Given the description of an element on the screen output the (x, y) to click on. 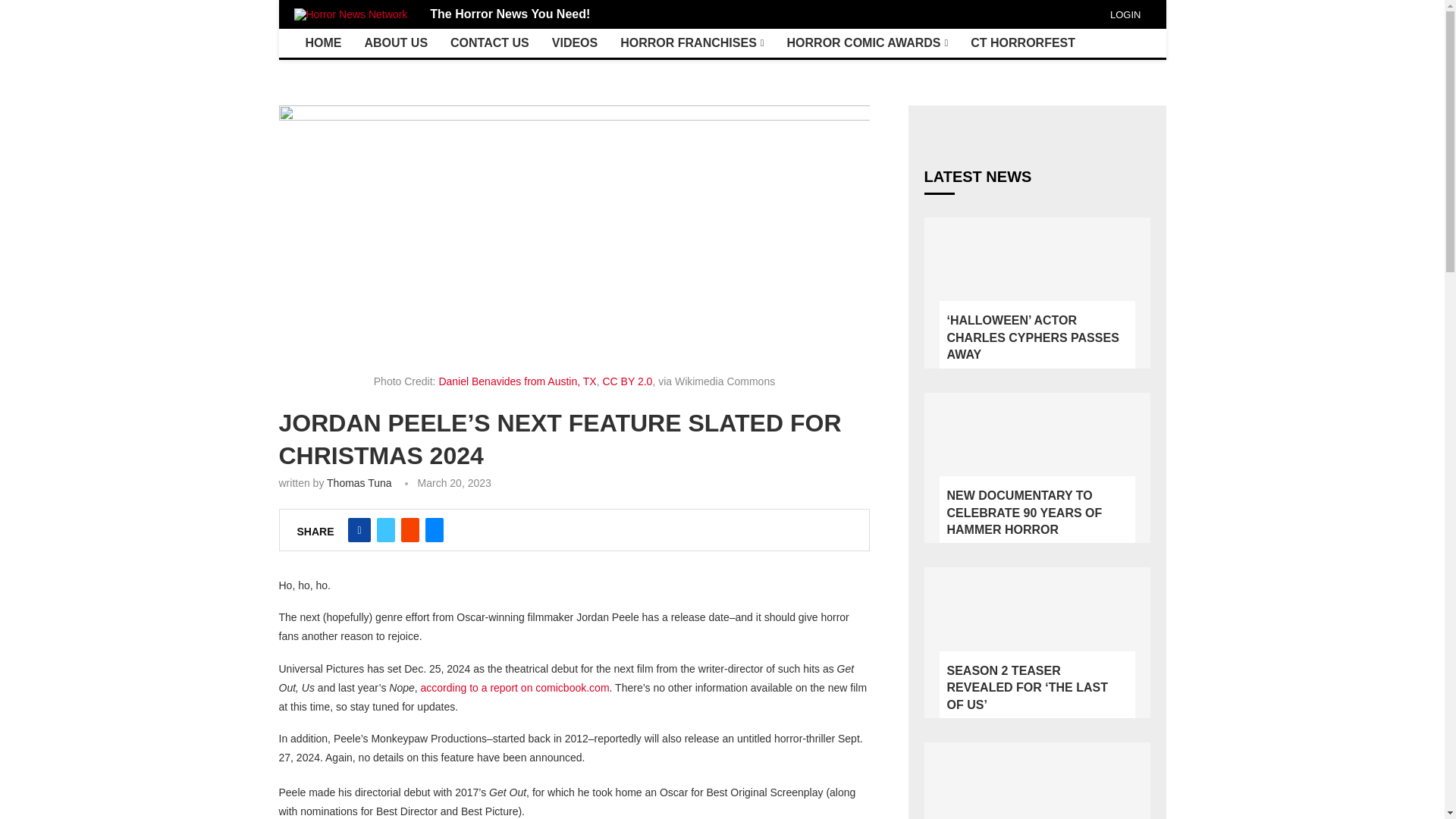
HOME (323, 42)
New Documentary to Celebrate 90 years of Hammer Horror (1036, 468)
LOGIN (1123, 14)
ABOUT US (396, 42)
HORROR FRANCHISES (691, 42)
The Horror News You Need! (509, 13)
CONTACT US (489, 42)
VIDEOS (574, 42)
